Given the description of an element on the screen output the (x, y) to click on. 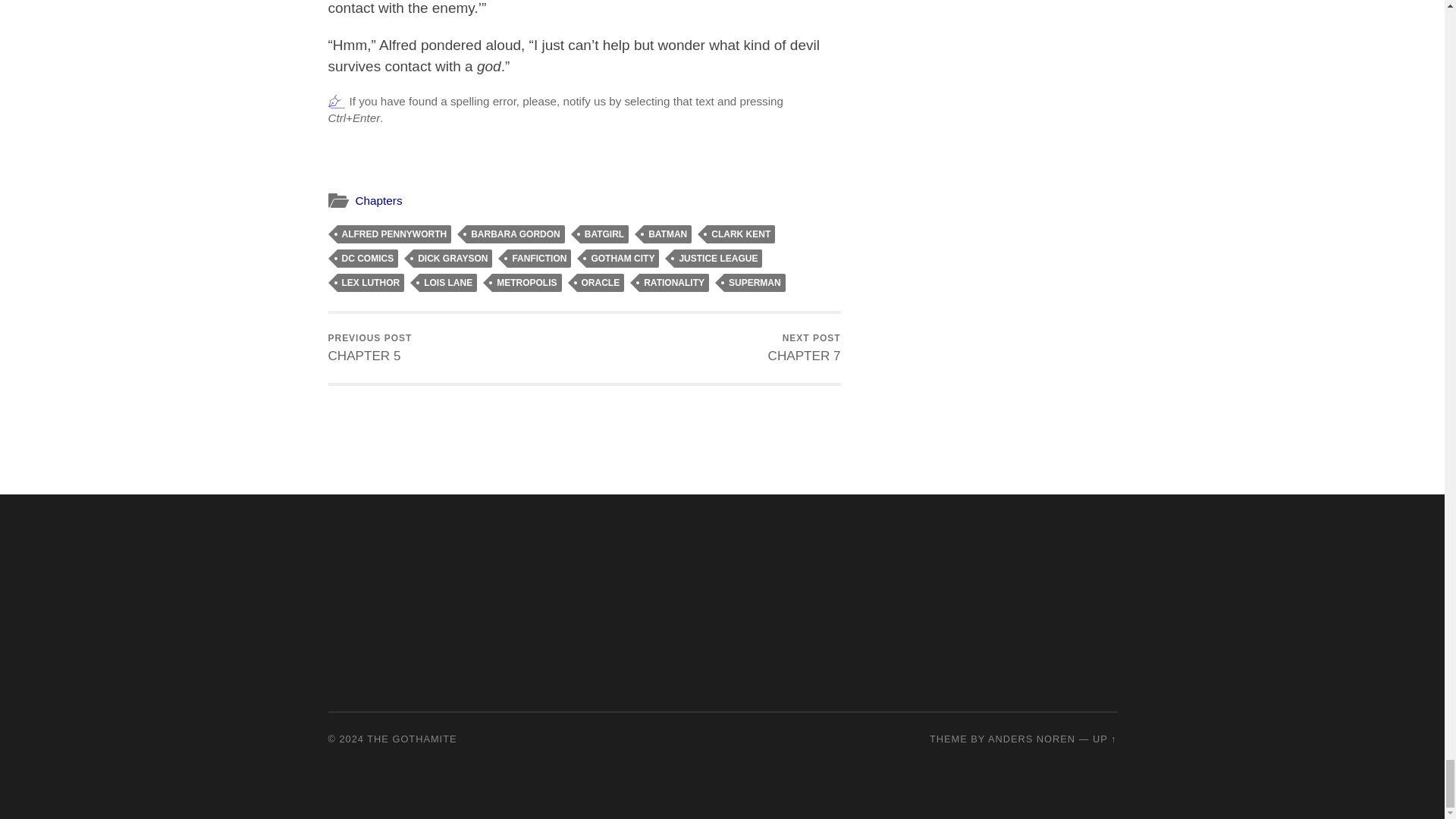
DC COMICS (366, 258)
BATMAN (667, 234)
SUPERMAN (754, 282)
METROPOLIS (526, 282)
CLARK KENT (740, 234)
JUSTICE LEAGUE (717, 258)
DICK GRAYSON (369, 348)
ORACLE (452, 258)
ALFRED PENNYWORTH (600, 282)
